Given the description of an element on the screen output the (x, y) to click on. 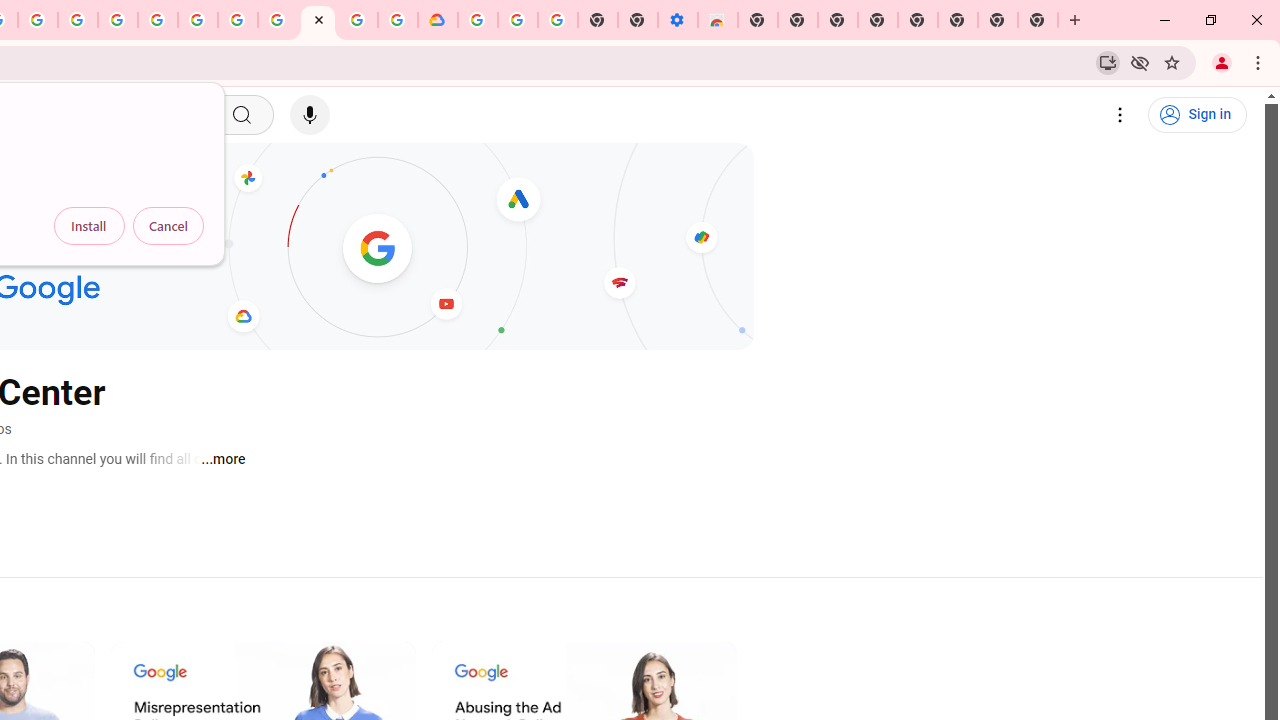
Android TV Policies and Guidelines - Transparency Center (278, 20)
New Tab (758, 20)
Install (89, 225)
Create your Google Account (357, 20)
Search with your voice (309, 115)
Install YouTube (1107, 62)
Sign in - Google Accounts (157, 20)
New Tab (1037, 20)
